Given the description of an element on the screen output the (x, y) to click on. 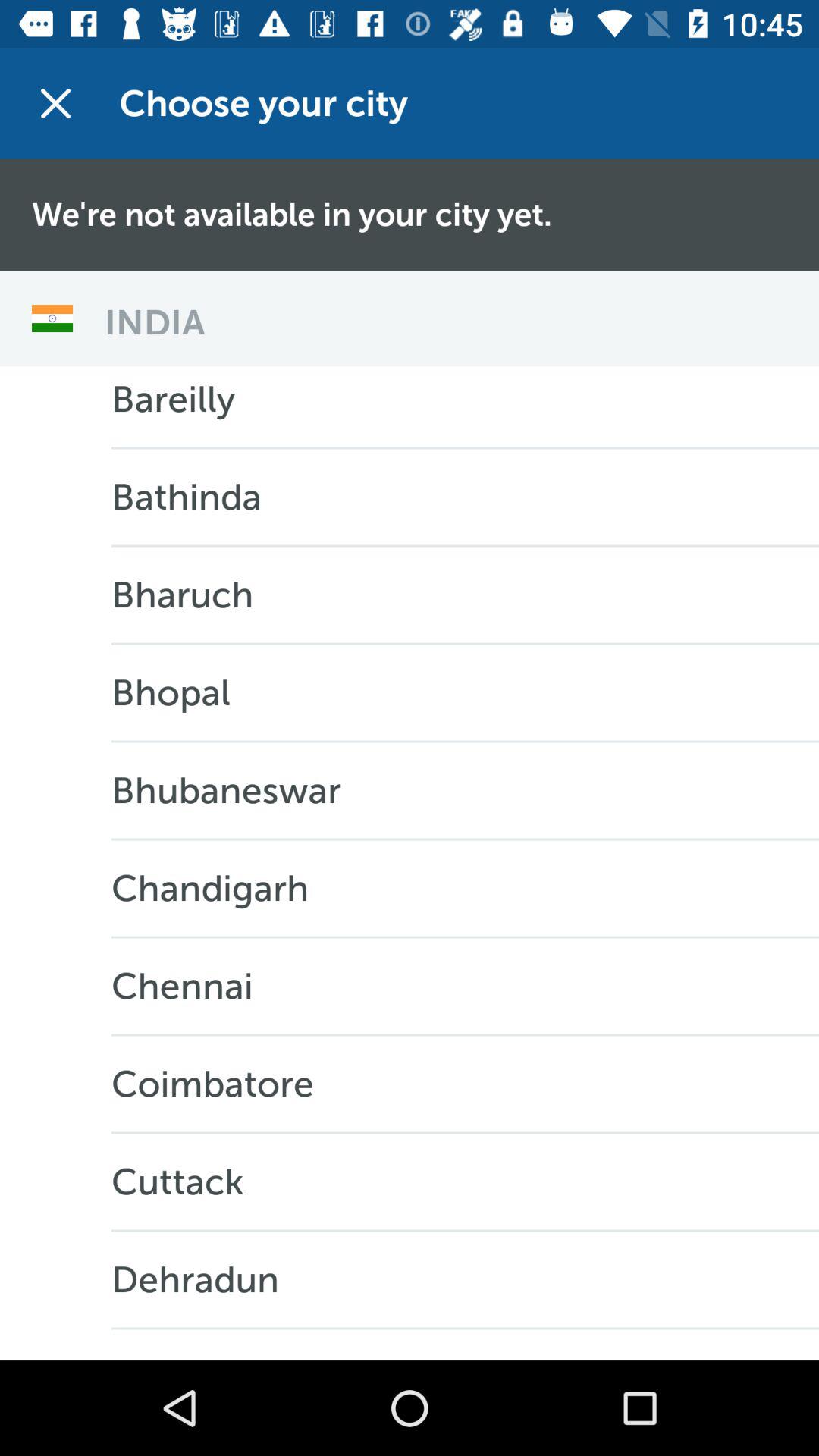
tap the item above the we re not item (55, 103)
